Given the description of an element on the screen output the (x, y) to click on. 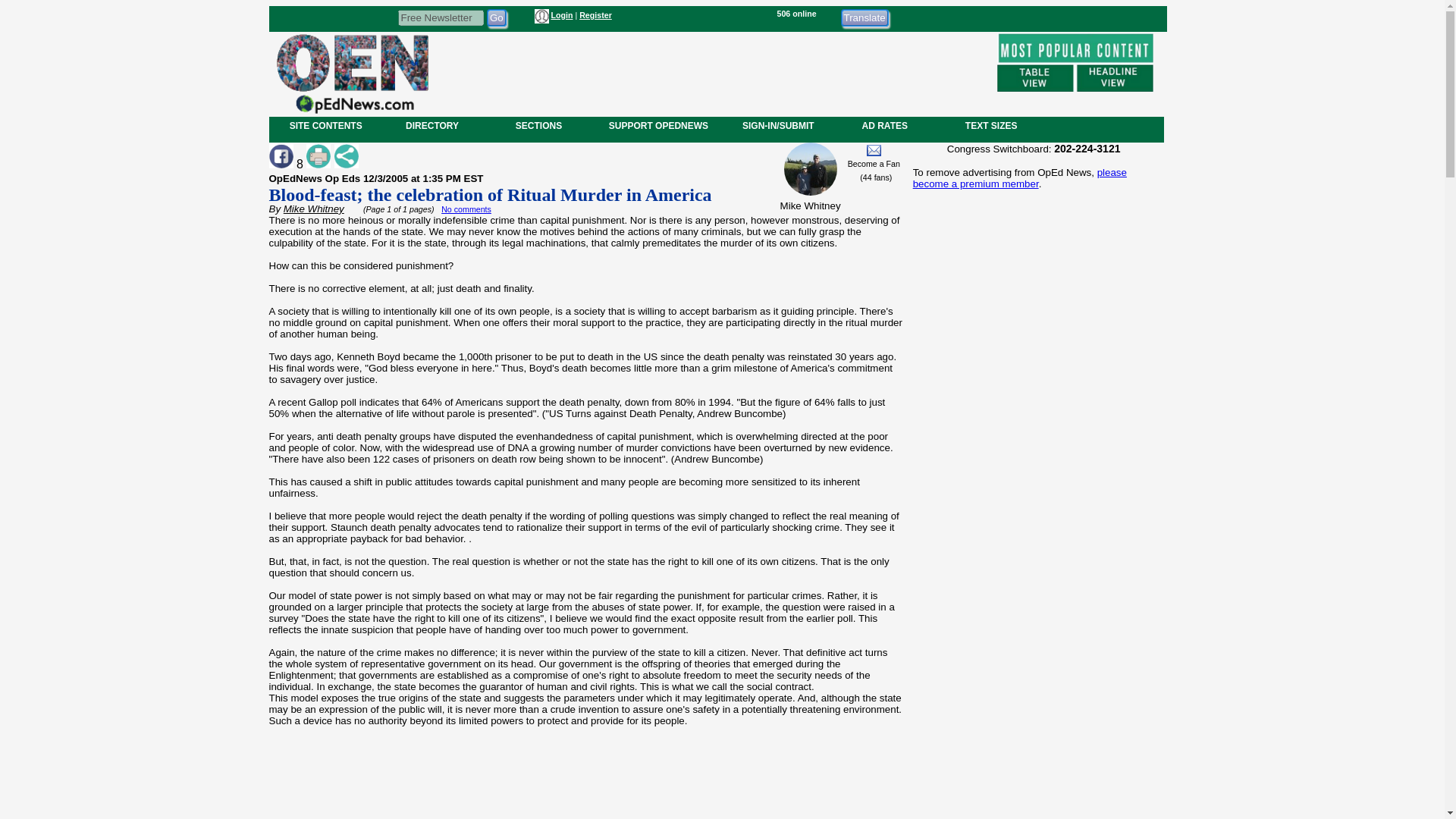
DIRECTORY (431, 125)
Translate (864, 17)
Message Mike Whitney (873, 150)
TEXT SIZES (990, 125)
SECTIONS (537, 125)
Free Newsletter (440, 17)
Advertisement (1032, 702)
Share on Facebook (279, 156)
Blood-feast; the celebration of Ritual Murder in America (489, 194)
Go (496, 17)
Mike Whitney (313, 208)
Become a Fan (873, 163)
AD RATES (884, 125)
SITE CONTENTS (325, 125)
SUPPORT OPEDNEWS (658, 125)
